Given the description of an element on the screen output the (x, y) to click on. 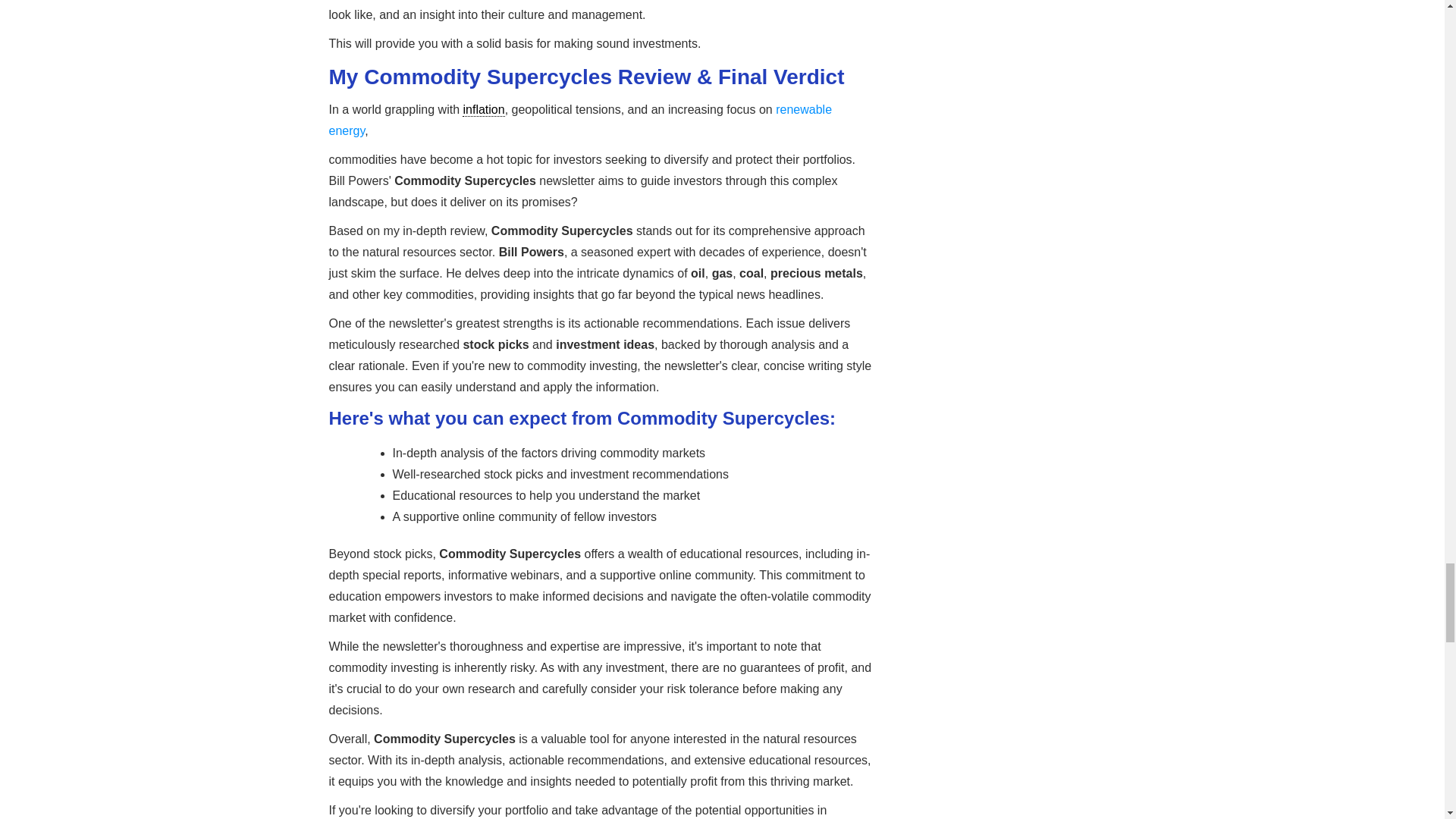
Top 5 Renewable Energy Stocks for 2024 (580, 120)
